Given the description of an element on the screen output the (x, y) to click on. 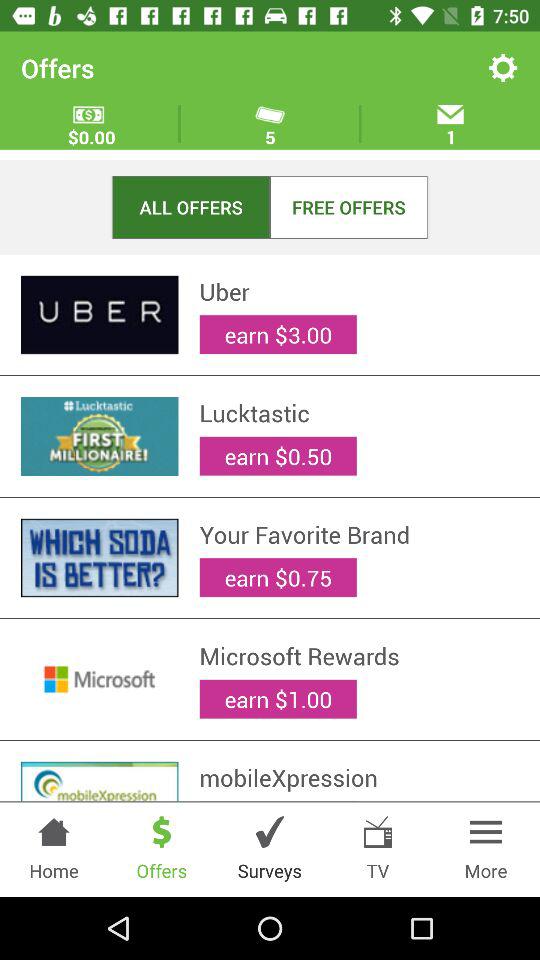
jump until microsoft rewards (359, 655)
